Given the description of an element on the screen output the (x, y) to click on. 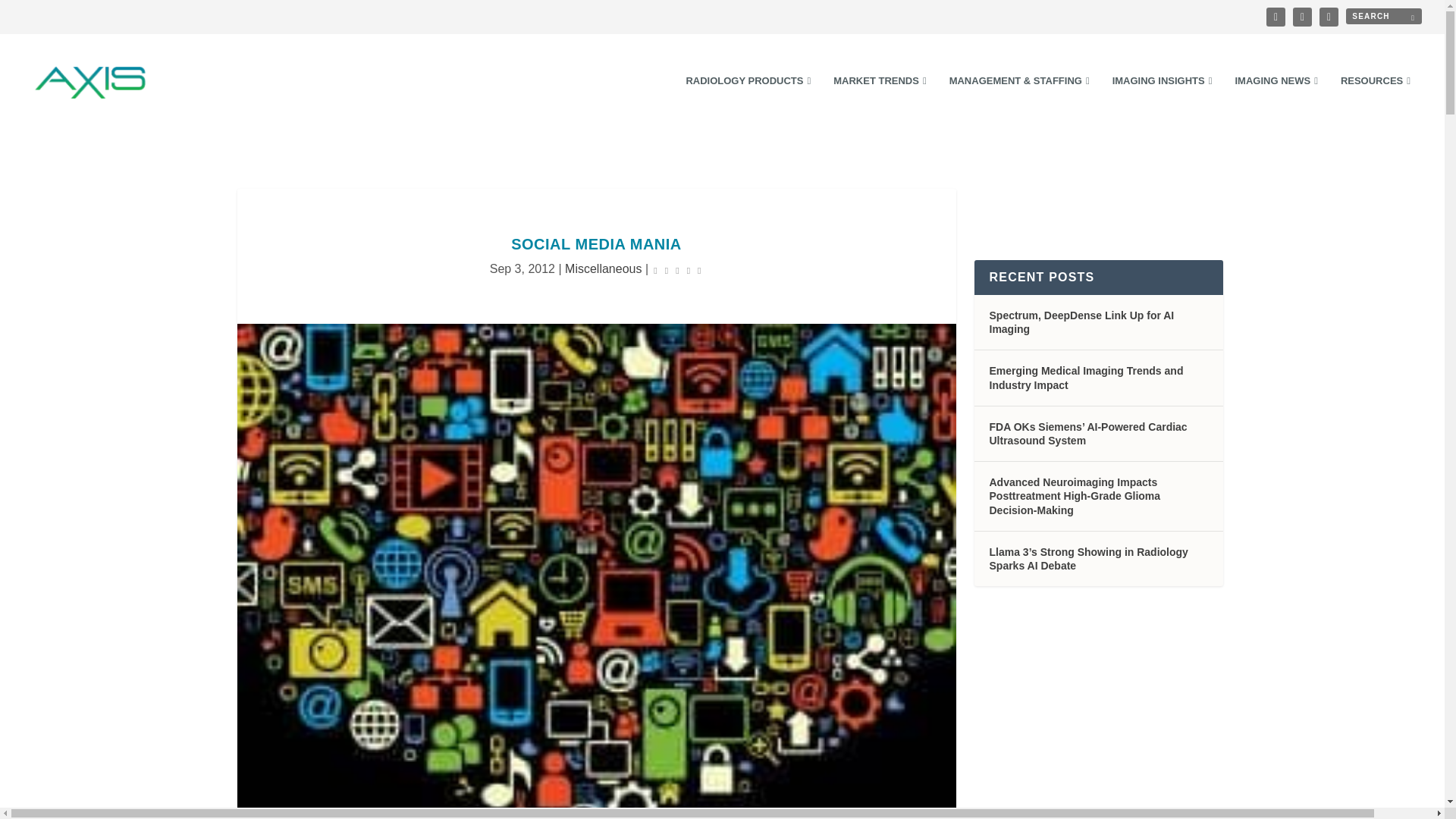
MARKET TRENDS (879, 101)
RADIOLOGY PRODUCTS (747, 101)
Search for: (1383, 16)
IMAGING INSIGHTS (1162, 101)
RESOURCES (1375, 101)
Miscellaneous (603, 268)
Rating: 0.00 (676, 269)
IMAGING NEWS (1275, 101)
